Given the description of an element on the screen output the (x, y) to click on. 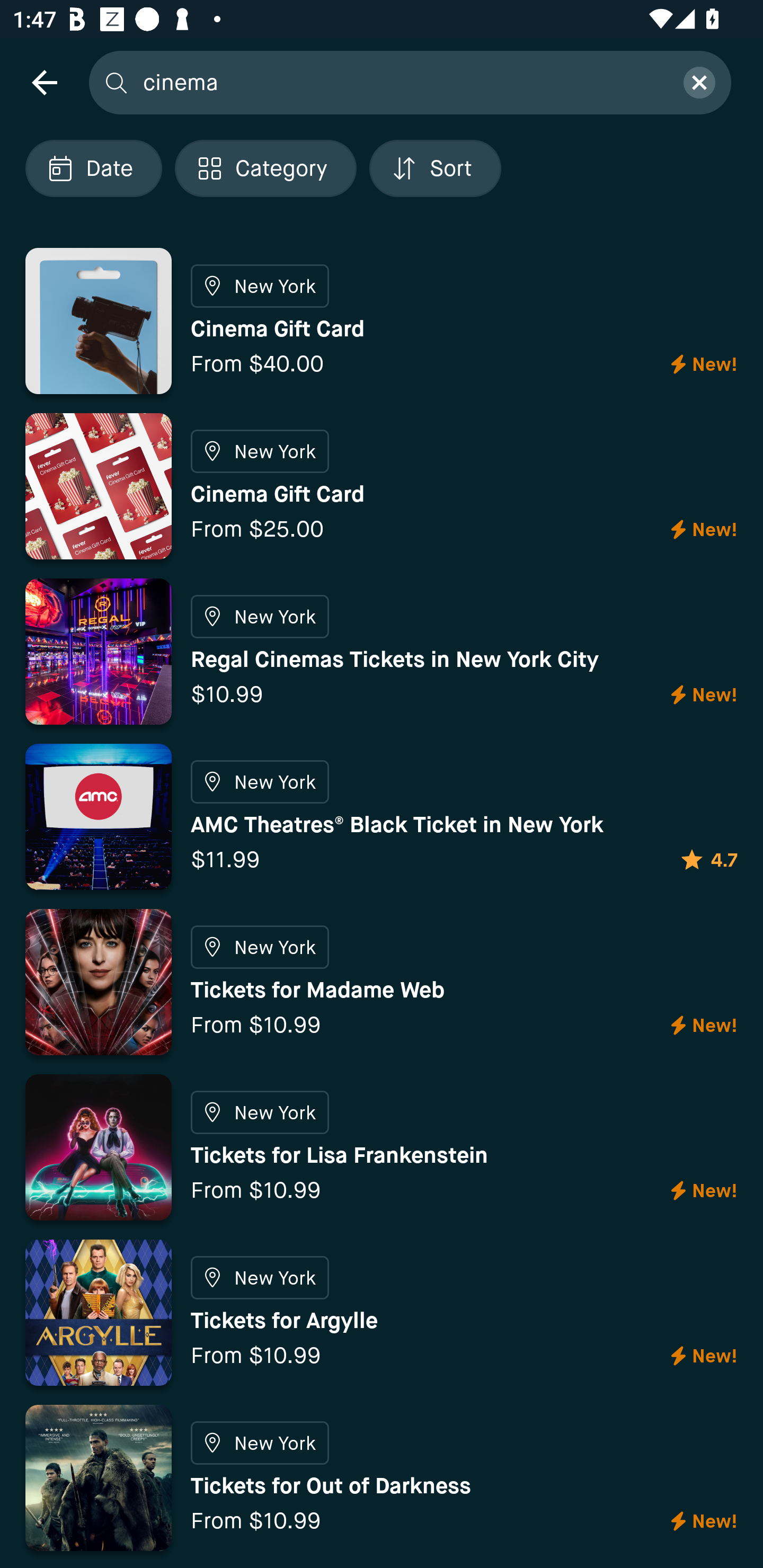
navigation icon (44, 81)
cinema (402, 81)
Localized description Date (93, 168)
Localized description Category (265, 168)
Localized description Sort (435, 168)
